Given the description of an element on the screen output the (x, y) to click on. 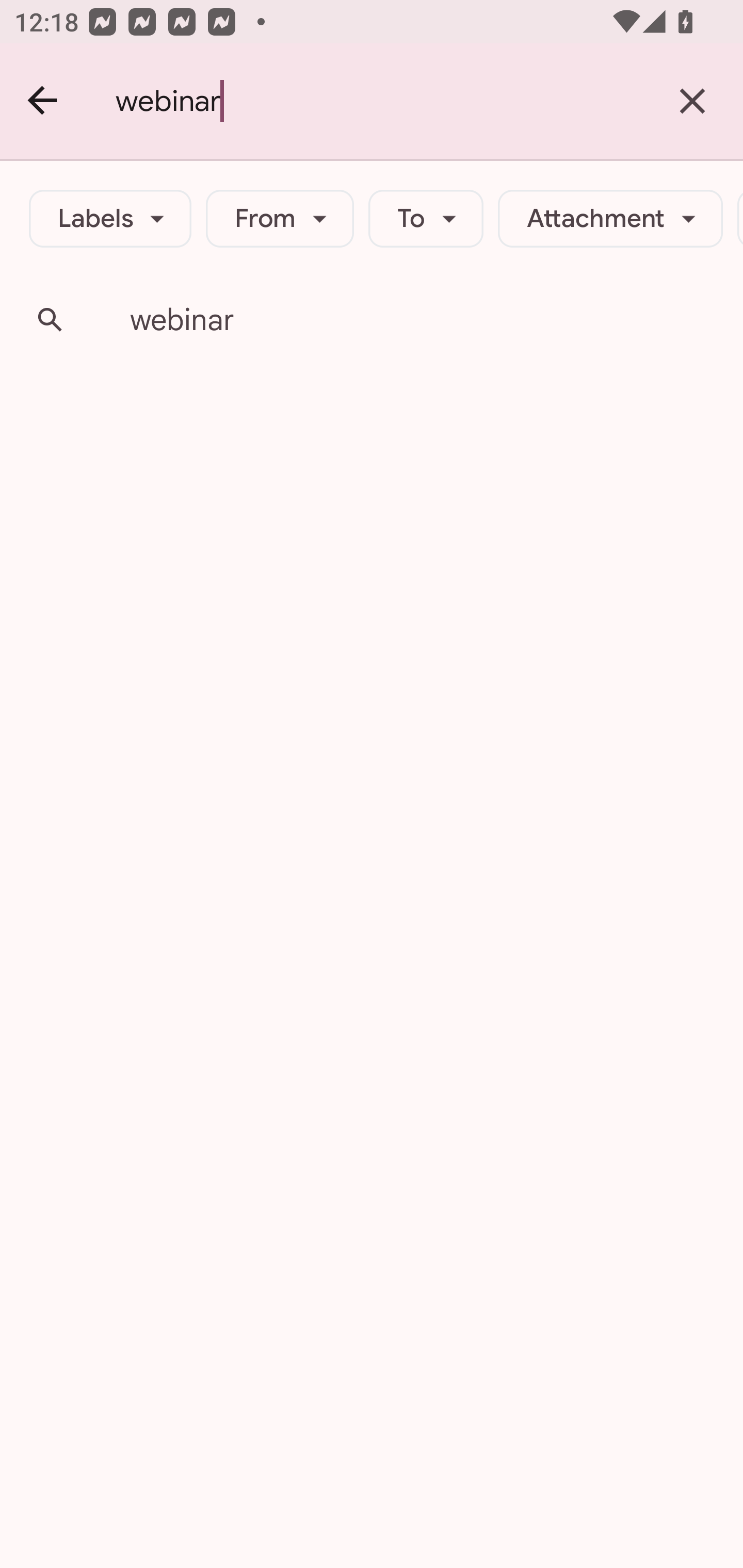
Back (43, 101)
webinar (378, 101)
Clear text (692, 101)
Labels (109, 218)
From (279, 218)
To (425, 218)
Attachment (609, 218)
webinar Suggestion: webinar (371, 319)
